Given the description of an element on the screen output the (x, y) to click on. 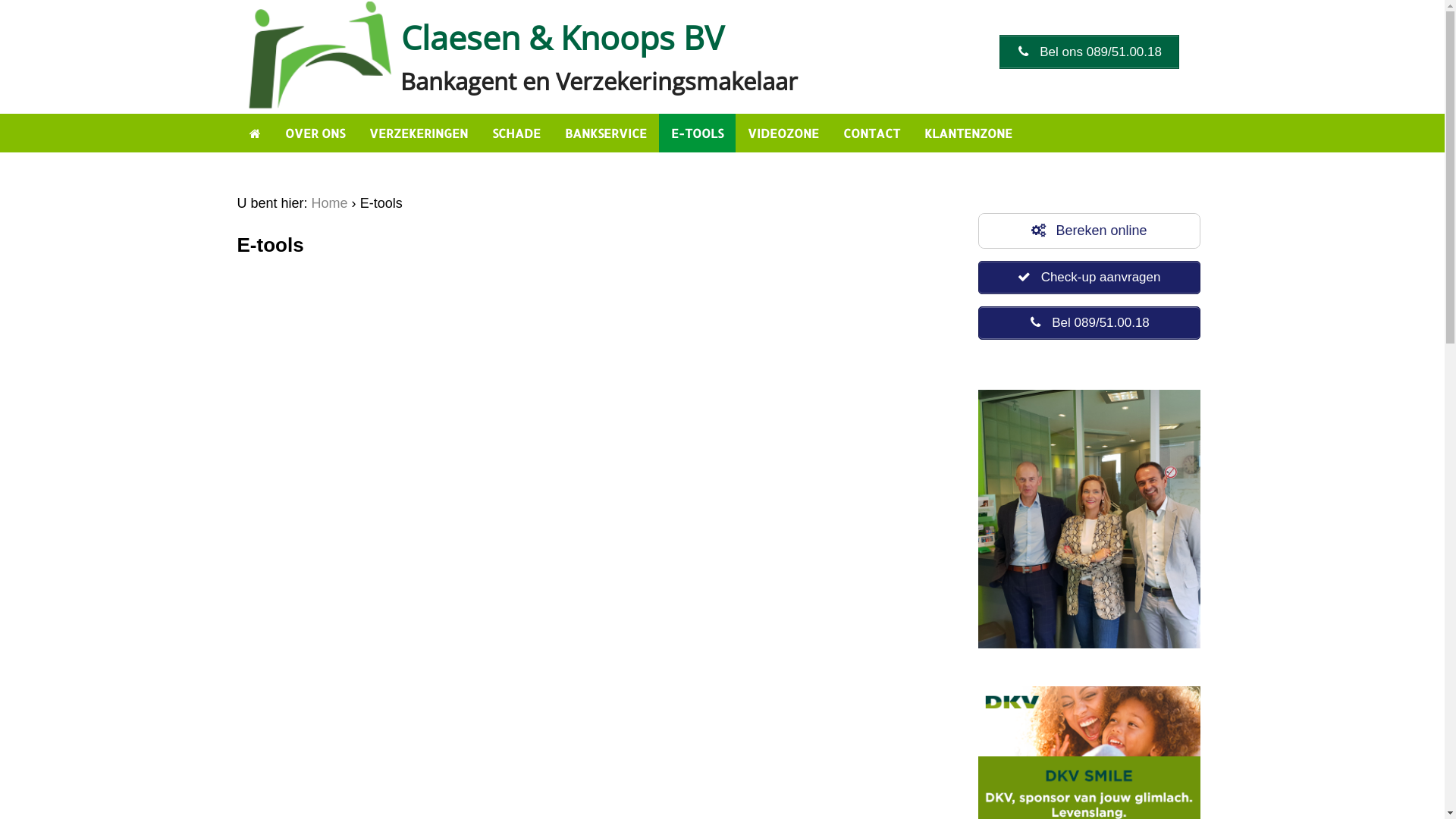
VERZEKERINGEN Element type: text (417, 132)
Bereken online Element type: text (1088, 230)
KLANTENZONE Element type: text (967, 132)
VIDEOZONE Element type: text (783, 132)
OVER ONS Element type: text (315, 132)
Bel 089/51.00.18 Element type: text (1088, 322)
BANKSERVICE Element type: text (605, 132)
CONTACT Element type: text (871, 132)
Check-up aanvragen Element type: text (1088, 277)
Bel ons 089/51.00.18 Element type: text (1089, 51)
Home Element type: text (329, 202)
E-TOOLS Element type: text (696, 132)
SCHADE Element type: text (515, 132)
